Given the description of an element on the screen output the (x, y) to click on. 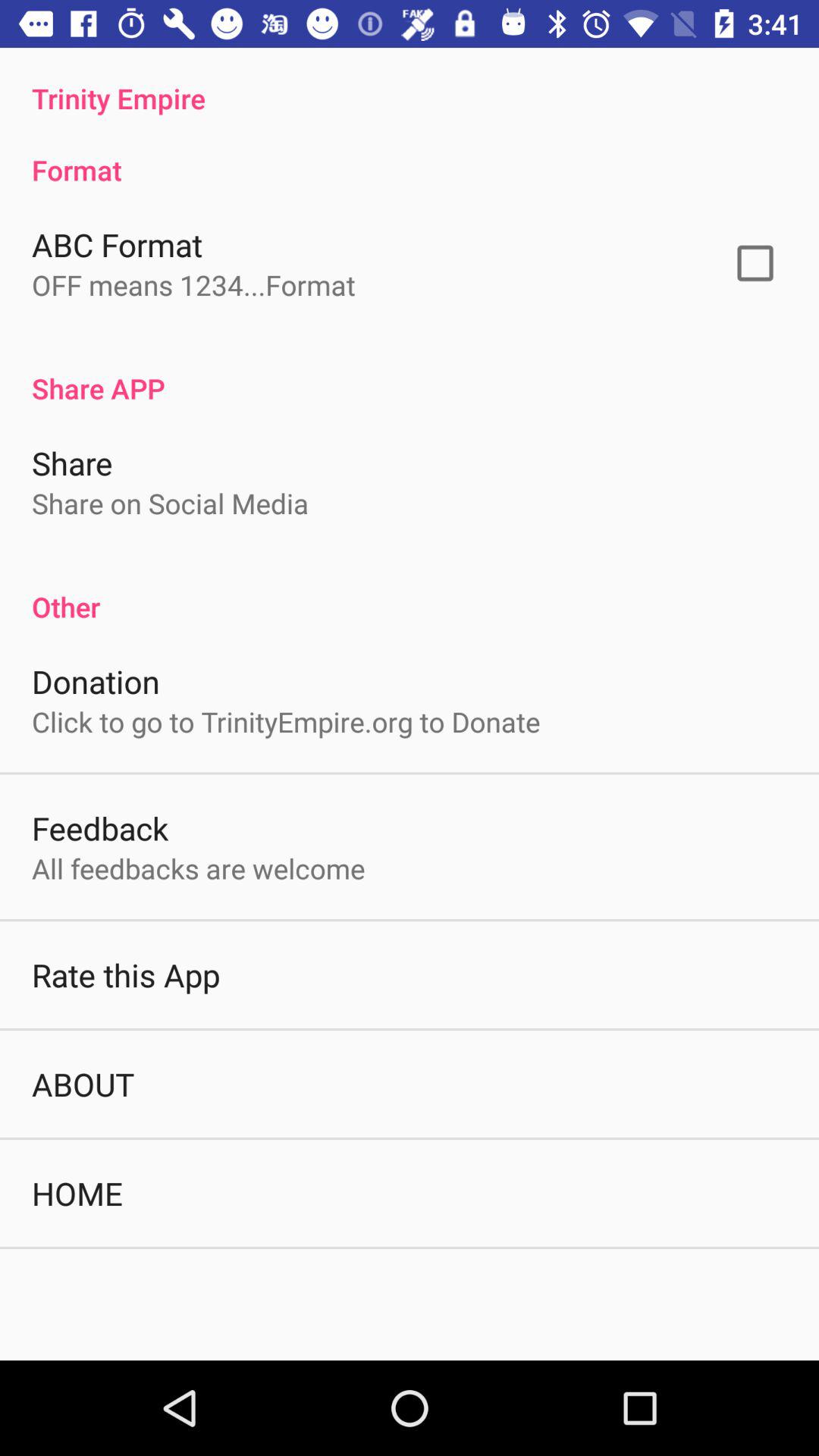
click on the button next to the abc format (755, 263)
